Given the description of an element on the screen output the (x, y) to click on. 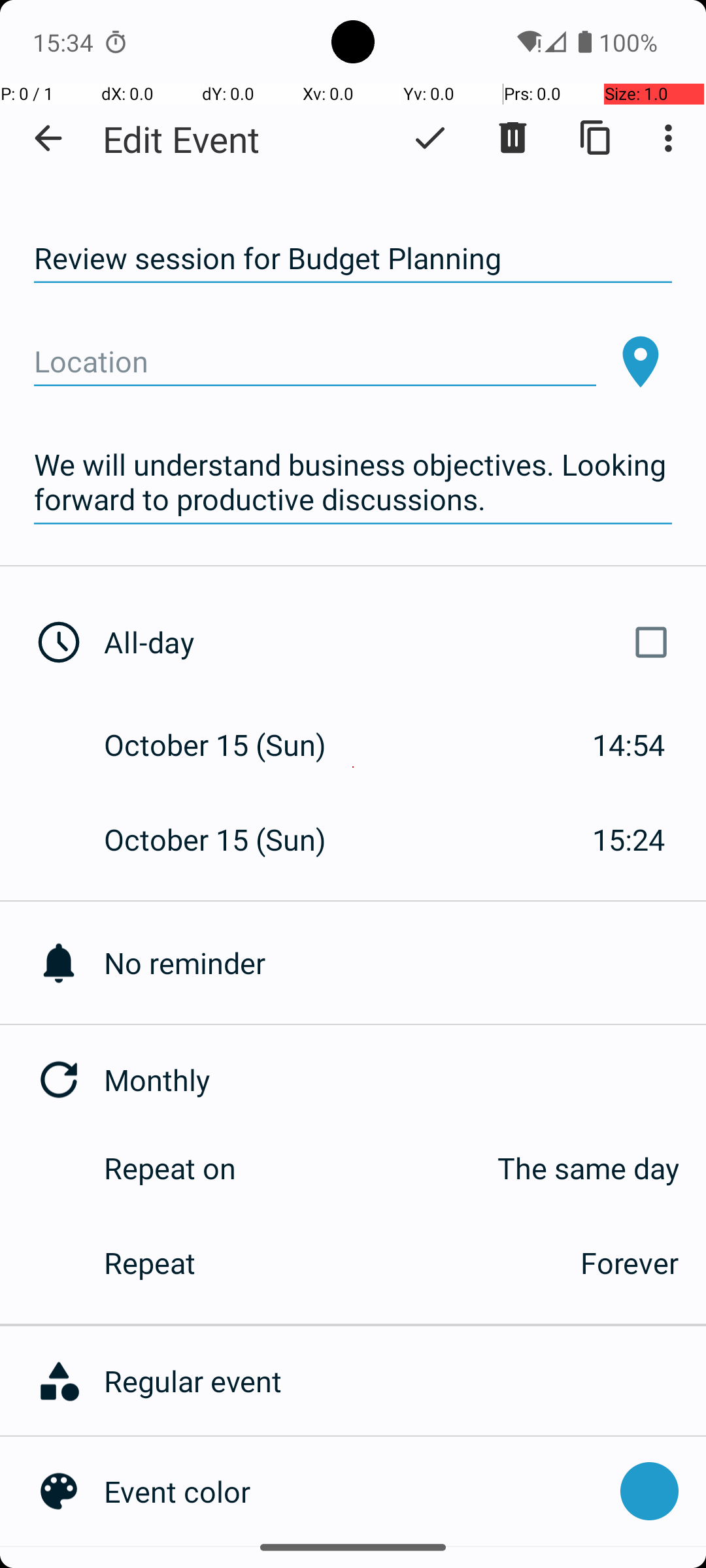
We will understand business objectives. Looking forward to productive discussions. Element type: android.widget.EditText (352, 482)
14:54 Element type: android.widget.TextView (628, 744)
15:24 Element type: android.widget.TextView (628, 838)
Repeat on Element type: android.widget.TextView (169, 1167)
The same day Element type: android.widget.TextView (470, 1167)
Repeat Element type: android.widget.TextView (328, 1262)
Forever Element type: android.widget.TextView (629, 1262)
